Given the description of an element on the screen output the (x, y) to click on. 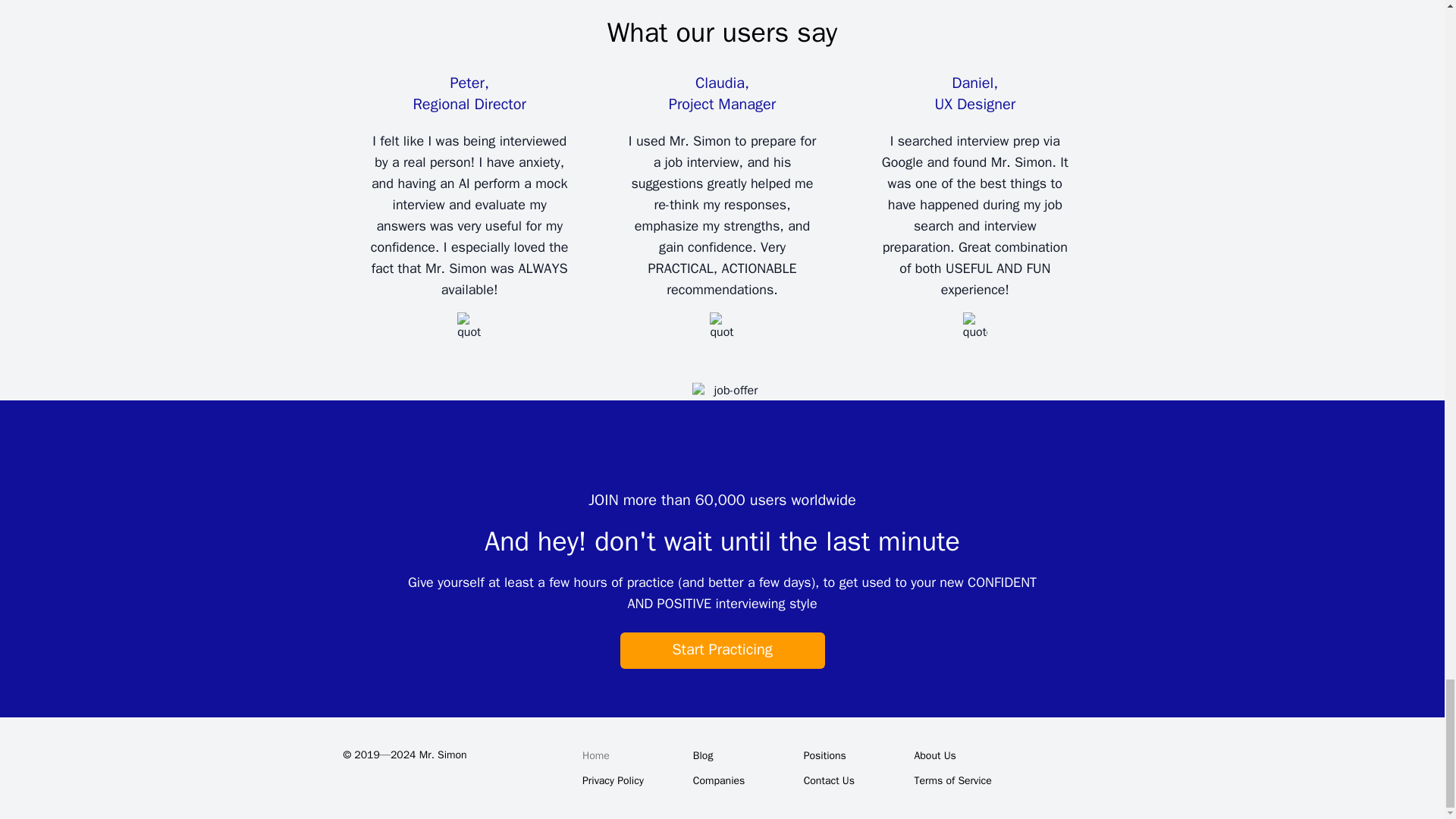
Start Practicing (722, 650)
Privacy Policy (631, 780)
Positions (852, 755)
Companies (742, 780)
Blog (742, 755)
About Us (962, 755)
Contact Us (852, 780)
Home (631, 755)
Terms of Service (962, 780)
